Given the description of an element on the screen output the (x, y) to click on. 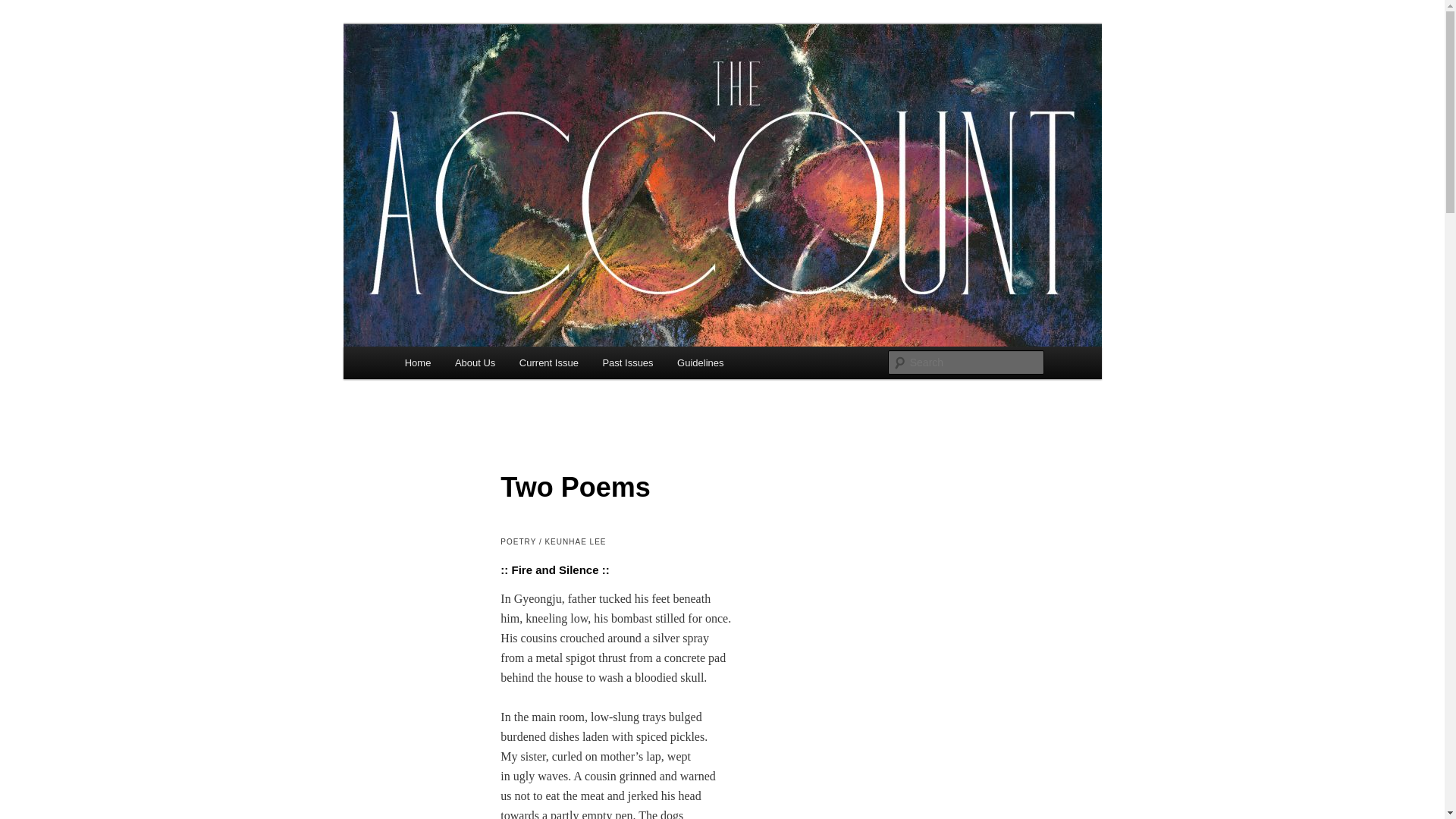
About Us (474, 362)
Home (417, 362)
Past Issues (628, 362)
Skip to primary content (472, 365)
The Account: A Journal of Poetry, Prose, and Thought (643, 92)
Current Issue (548, 362)
Guidelines (700, 362)
Search (24, 8)
Skip to primary content (472, 365)
Skip to secondary content (479, 365)
